Given the description of an element on the screen output the (x, y) to click on. 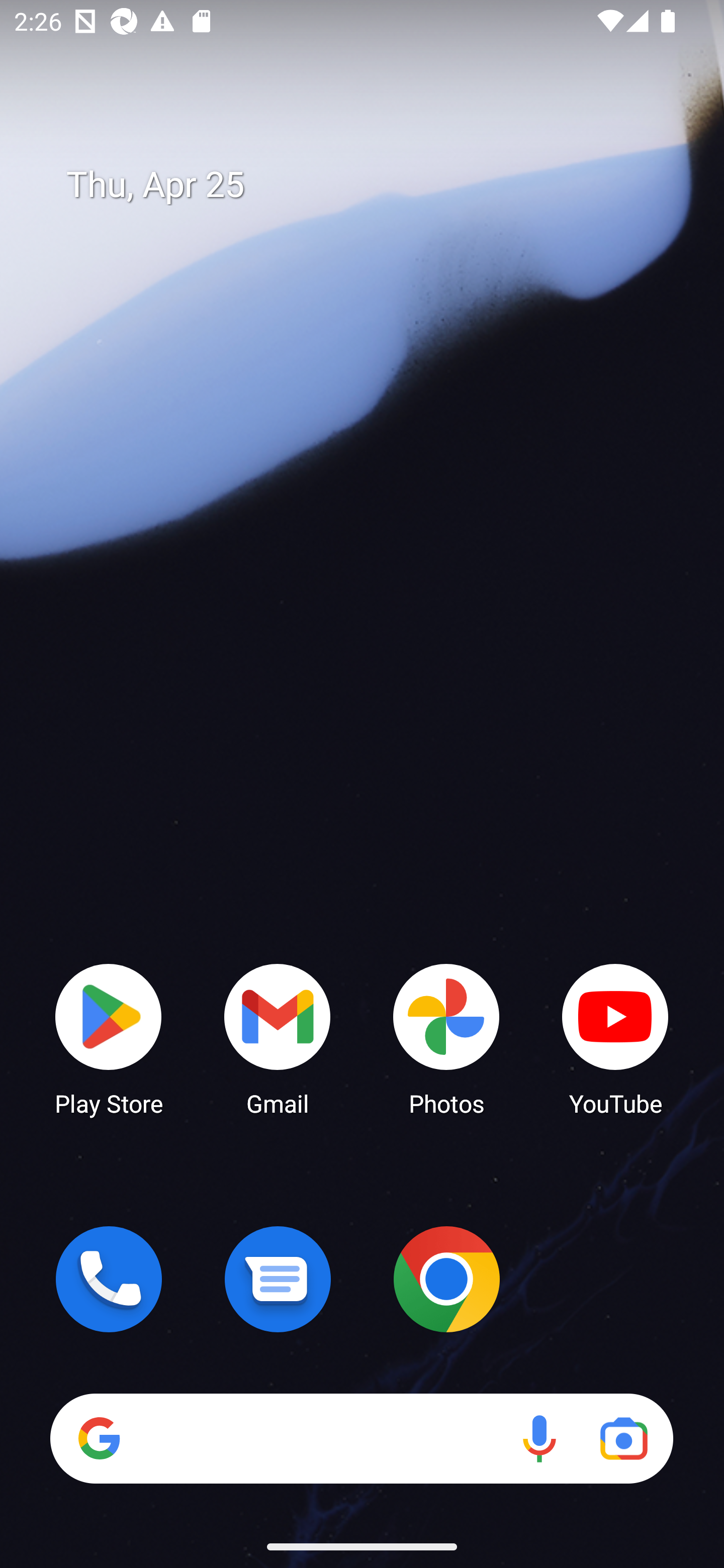
Thu, Apr 25 (375, 184)
Play Store (108, 1038)
Gmail (277, 1038)
Photos (445, 1038)
YouTube (615, 1038)
Phone (108, 1279)
Messages (277, 1279)
Chrome (446, 1279)
Search Voice search Google Lens (361, 1438)
Voice search (539, 1438)
Google Lens (623, 1438)
